Given the description of an element on the screen output the (x, y) to click on. 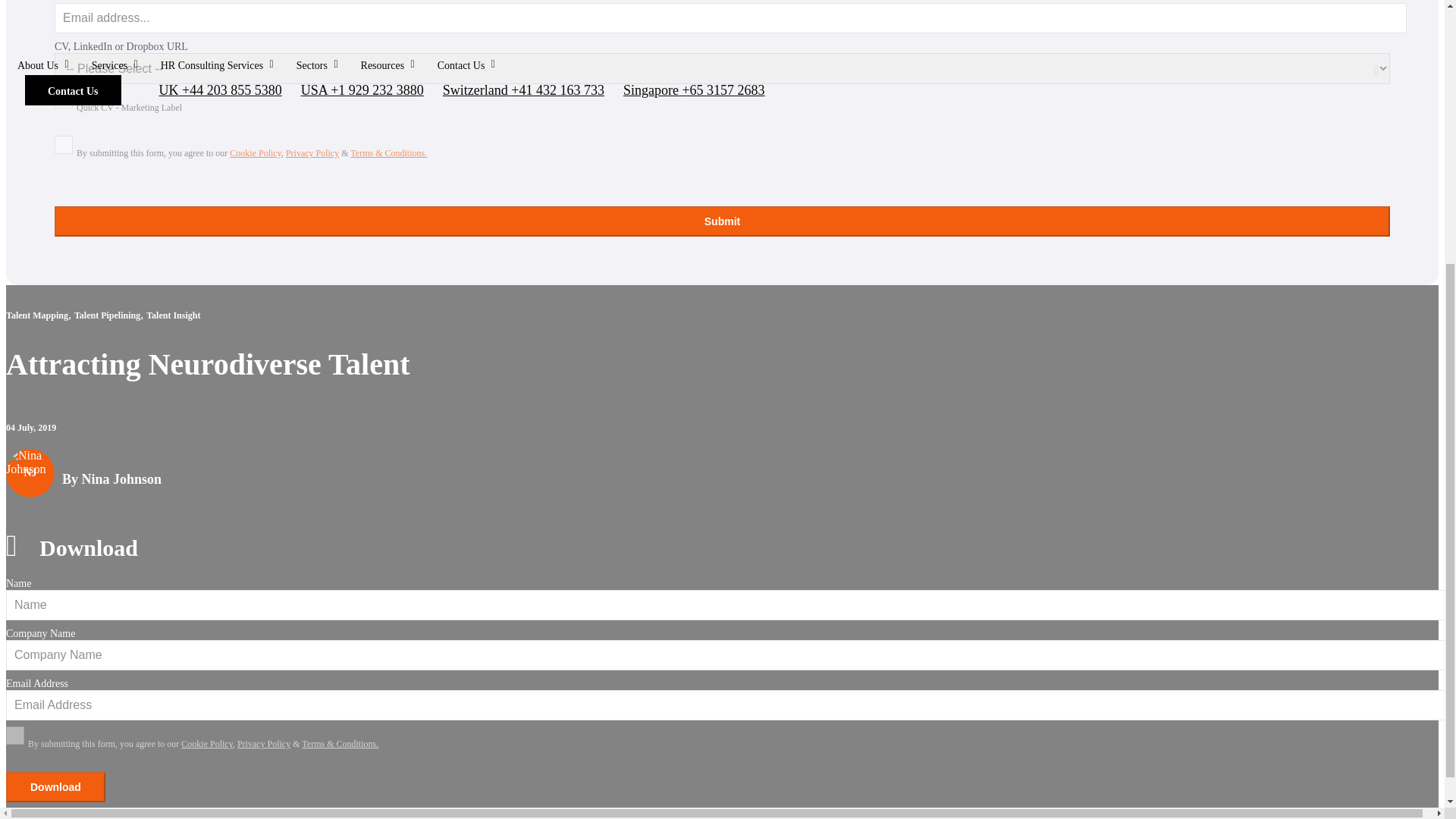
Download (54, 787)
Submit (722, 221)
